Given the description of an element on the screen output the (x, y) to click on. 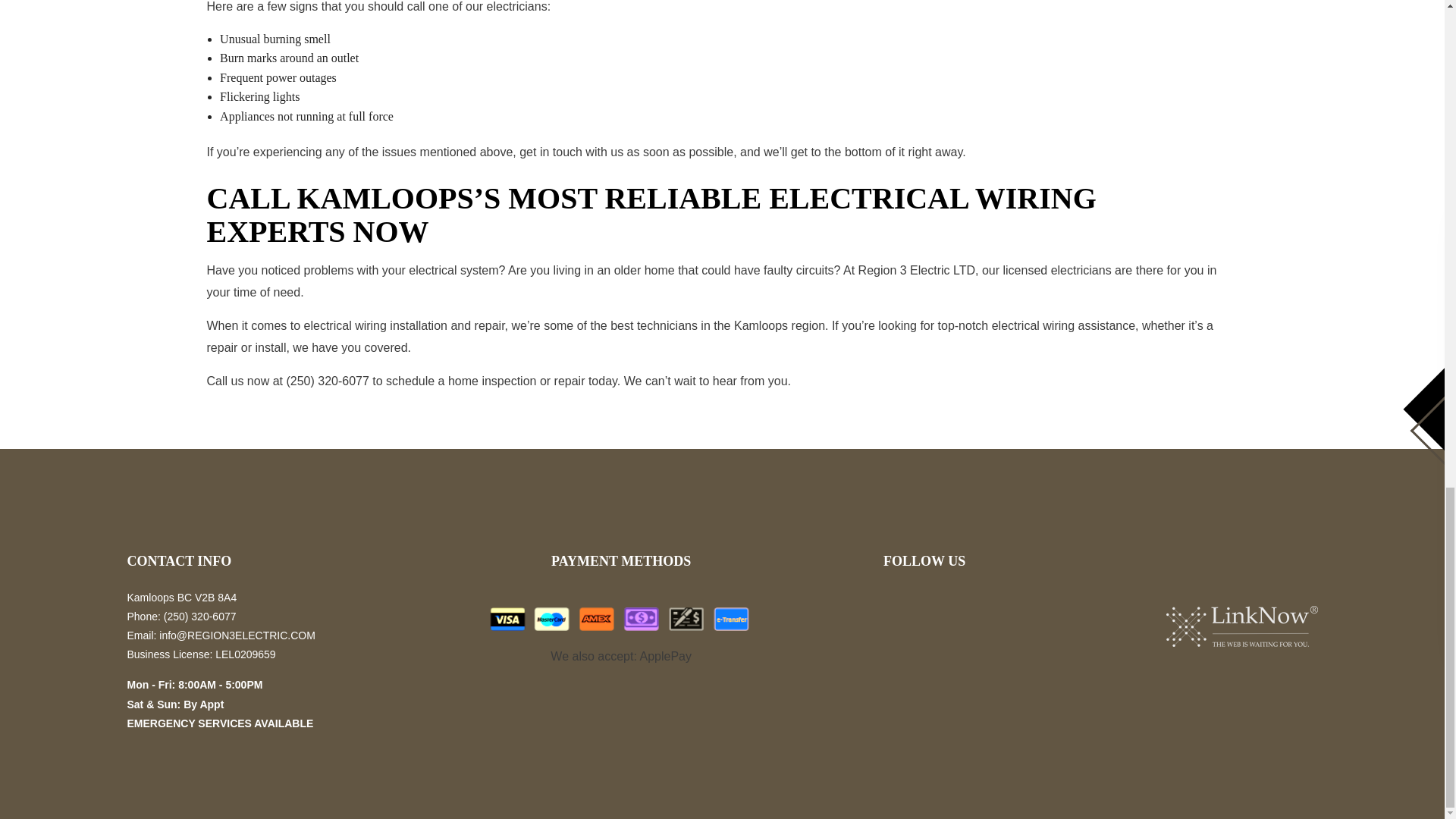
American Express (596, 618)
E-Transfer (730, 618)
Check (685, 618)
Region 3 Electric LTD's Google Maps (931, 617)
Mastercard (551, 618)
Visa (506, 618)
Cash (642, 618)
